Given the description of an element on the screen output the (x, y) to click on. 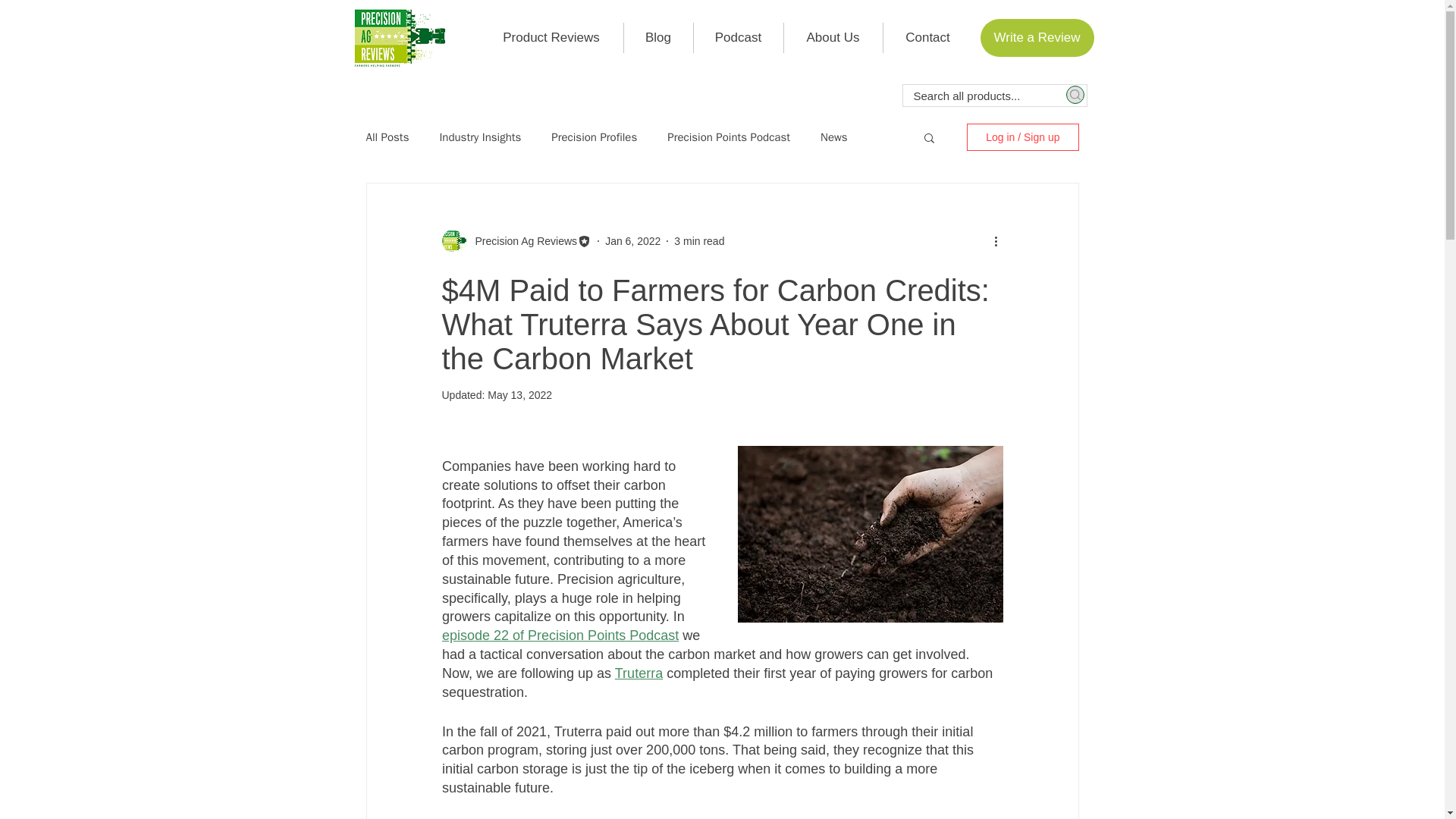
Jan 6, 2022 (633, 241)
News (834, 137)
Precision Profiles (594, 137)
episode 22 of Precision Points Podcast (559, 635)
Truterra (638, 672)
Write a Review (1036, 37)
All Posts (387, 137)
3 min read (698, 241)
Precision Ag Reviews (520, 241)
Product Reviews (551, 37)
